Given the description of an element on the screen output the (x, y) to click on. 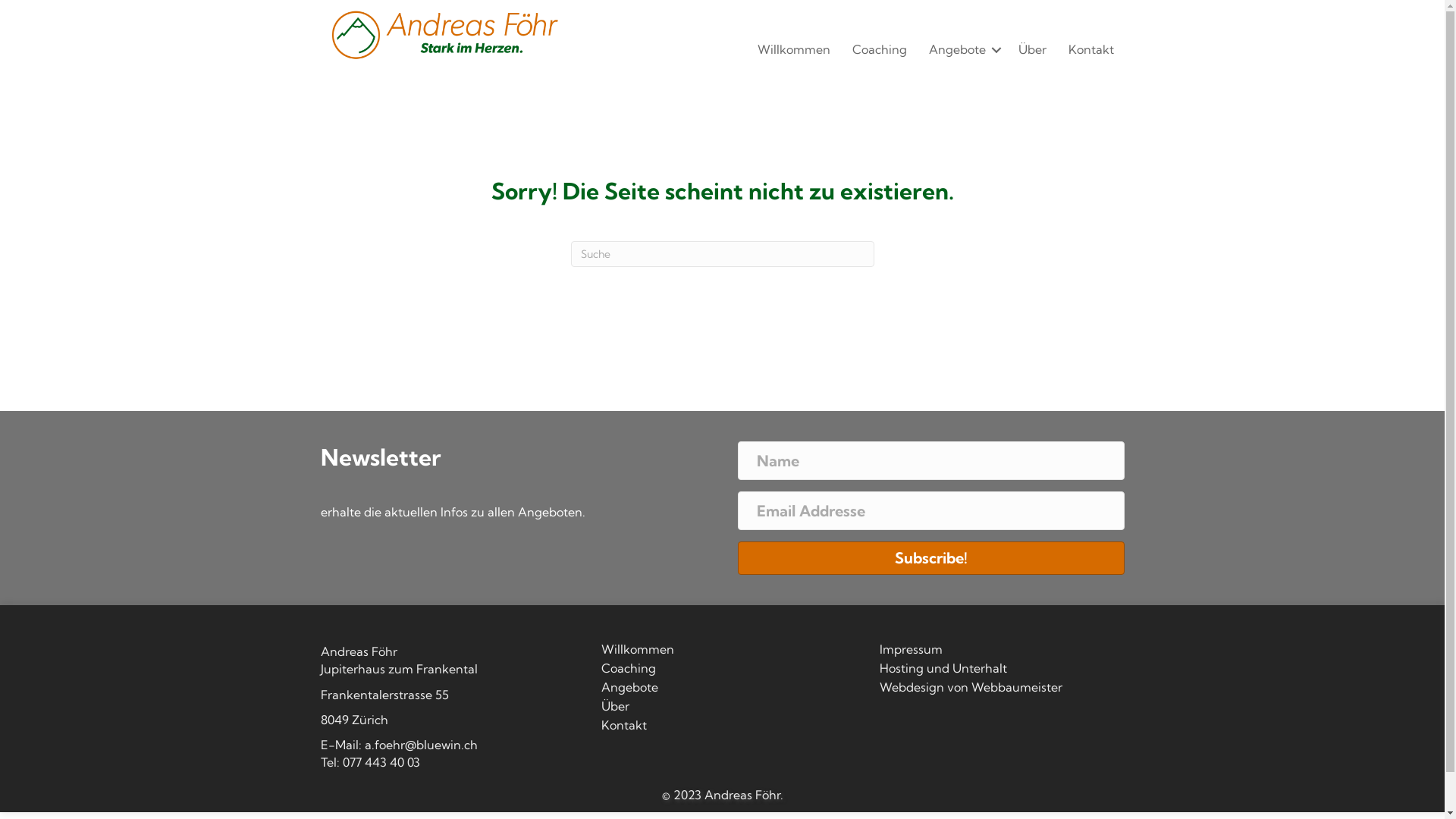
Hosting und Unterhalt Element type: text (1000, 671)
Impressum Element type: text (1000, 652)
Suchbegriff hier eingeben ... Element type: hover (721, 253)
Angebote Element type: text (962, 49)
Coaching Element type: text (722, 671)
Coaching Element type: text (879, 49)
Kontakt Element type: text (722, 727)
Webdesign von Webbaumeister Element type: text (1000, 689)
andreas-foehr-web Element type: hover (442, 34)
077 443 40 03 Element type: text (381, 761)
a.foehr@bluewin.ch Element type: text (420, 744)
Kontakt Element type: text (1090, 49)
Willkommen Element type: text (722, 652)
Willkommen Element type: text (793, 49)
Angebote Element type: text (722, 689)
Subscribe! Element type: text (930, 557)
